Given the description of an element on the screen output the (x, y) to click on. 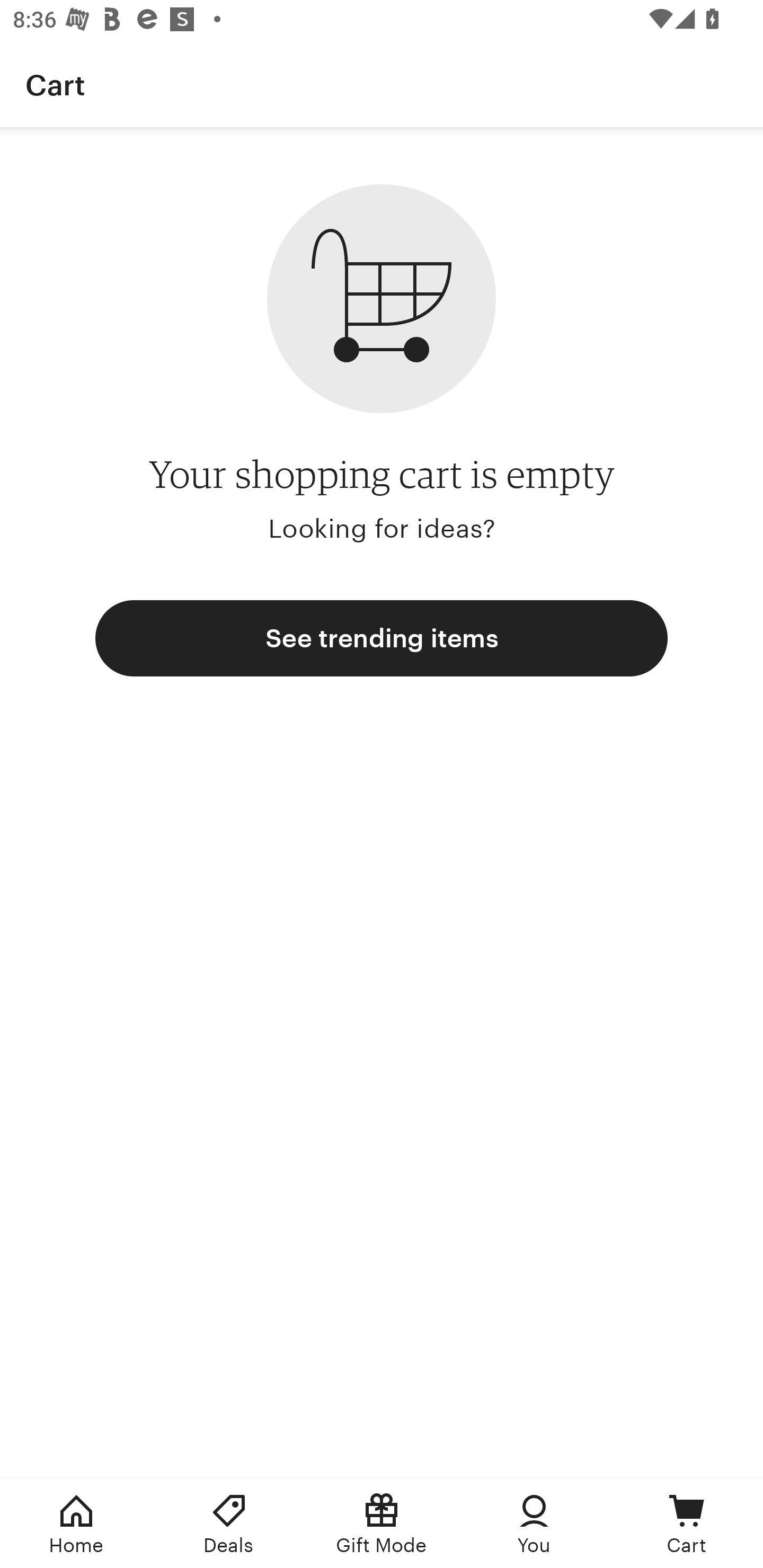
See trending items (381, 637)
Home (76, 1523)
Deals (228, 1523)
Gift Mode (381, 1523)
You (533, 1523)
